Given the description of an element on the screen output the (x, y) to click on. 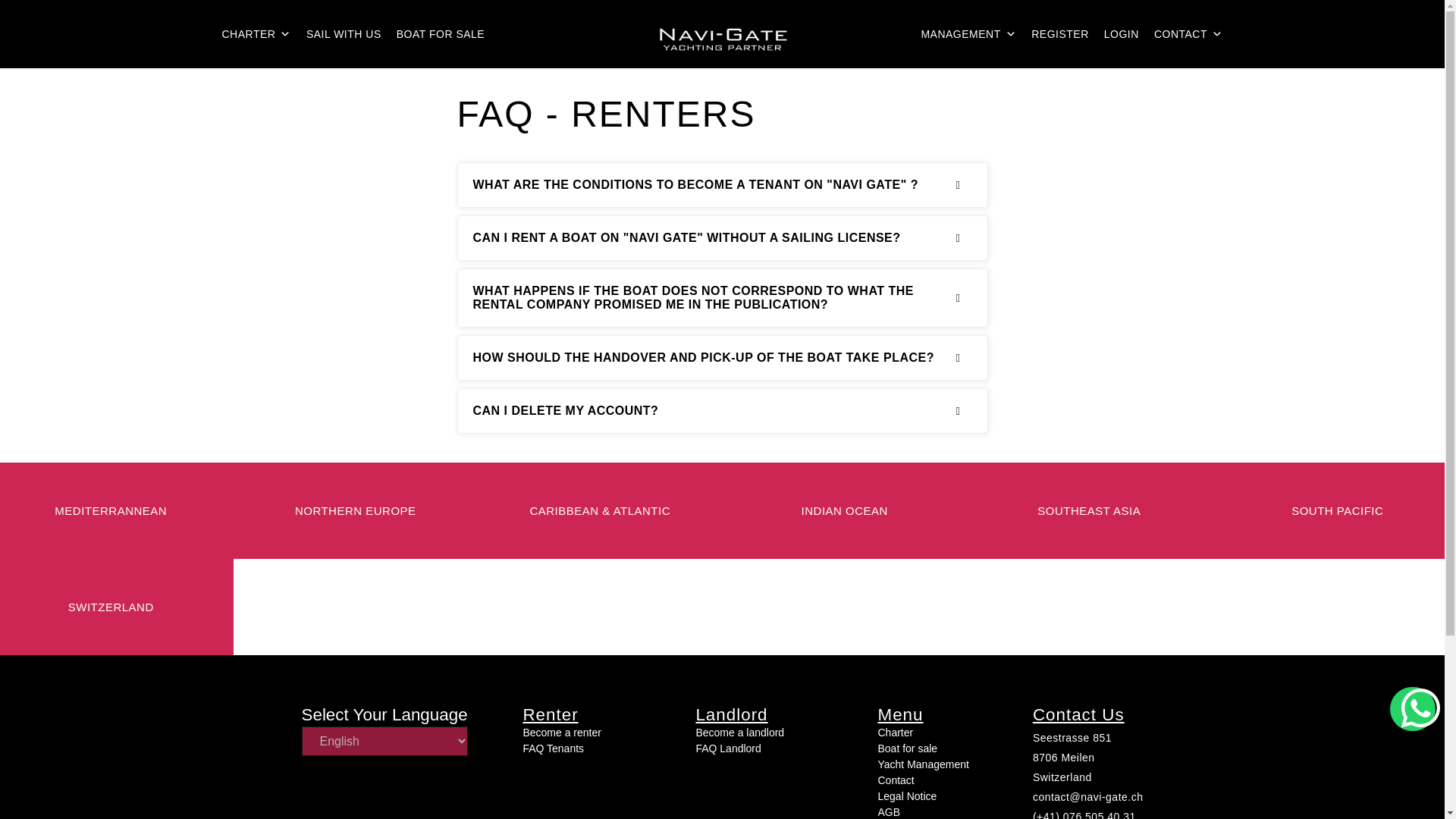
CHARTER (256, 33)
LOGIN (1121, 33)
MANAGEMENT (967, 33)
BOAT FOR SALE (440, 33)
CONTACT (1188, 33)
SAIL WITH US (343, 33)
REGISTER (1059, 33)
